Given the description of an element on the screen output the (x, y) to click on. 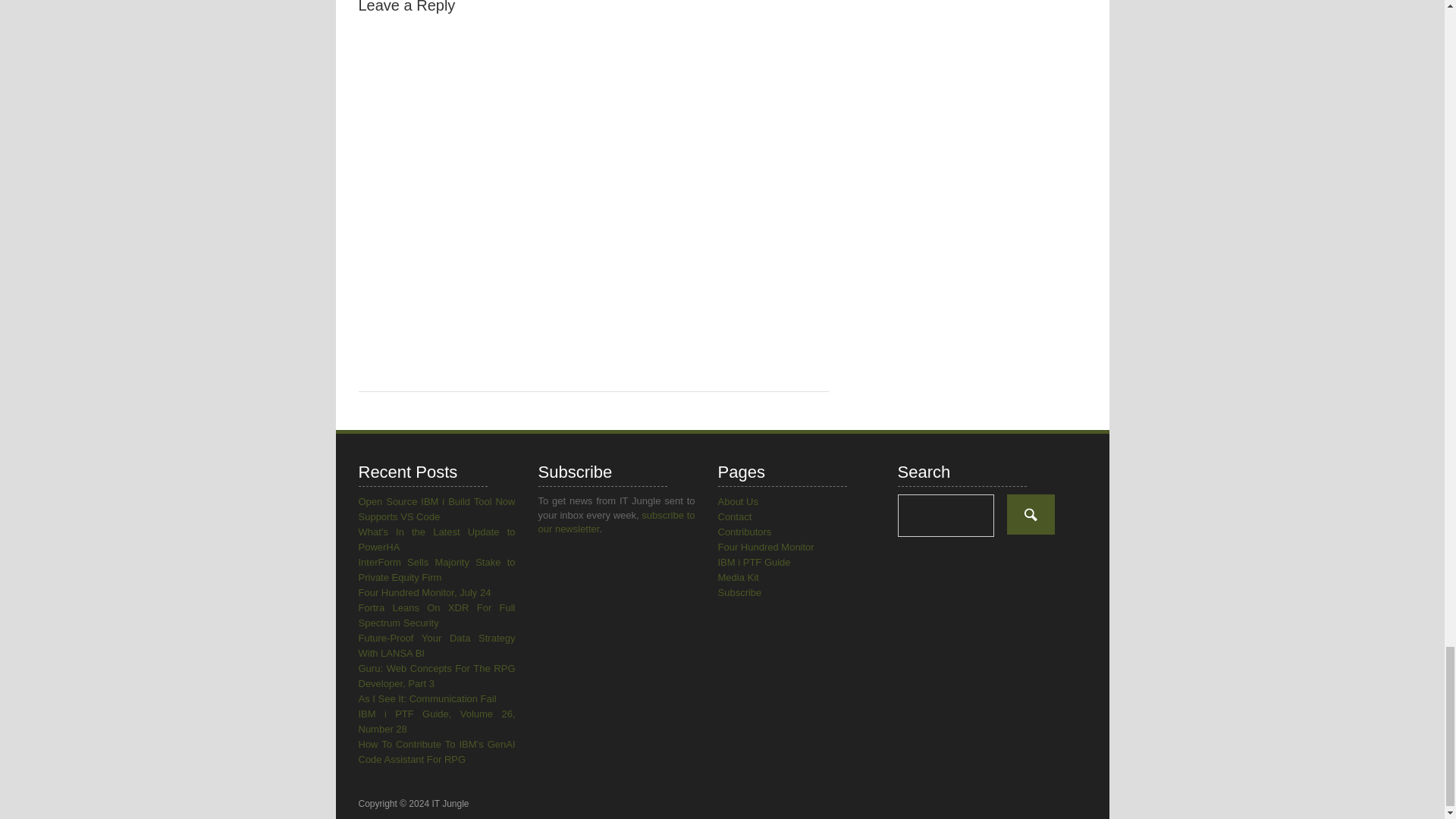
Search (1030, 514)
